Given the description of an element on the screen output the (x, y) to click on. 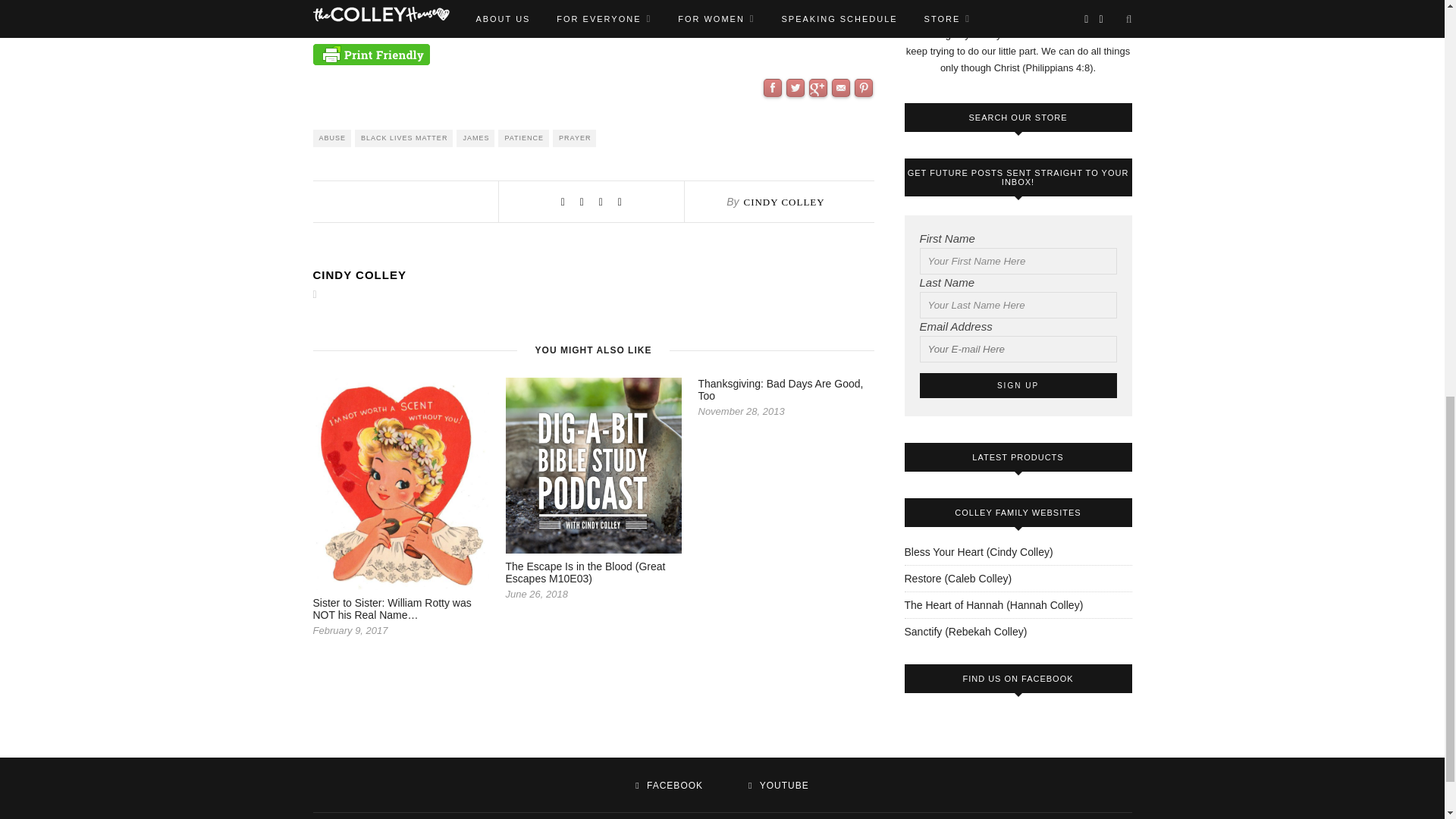
Posts by Cindy Colley (783, 202)
BLACK LIVES MATTER (403, 138)
Posts by Cindy Colley (593, 274)
Sign up (1017, 385)
JAMES (476, 138)
Your Last Name Here (1017, 304)
PRAYER (574, 138)
ABUSE (331, 138)
Your First Name Here (1017, 261)
PATIENCE (522, 138)
